Given the description of an element on the screen output the (x, y) to click on. 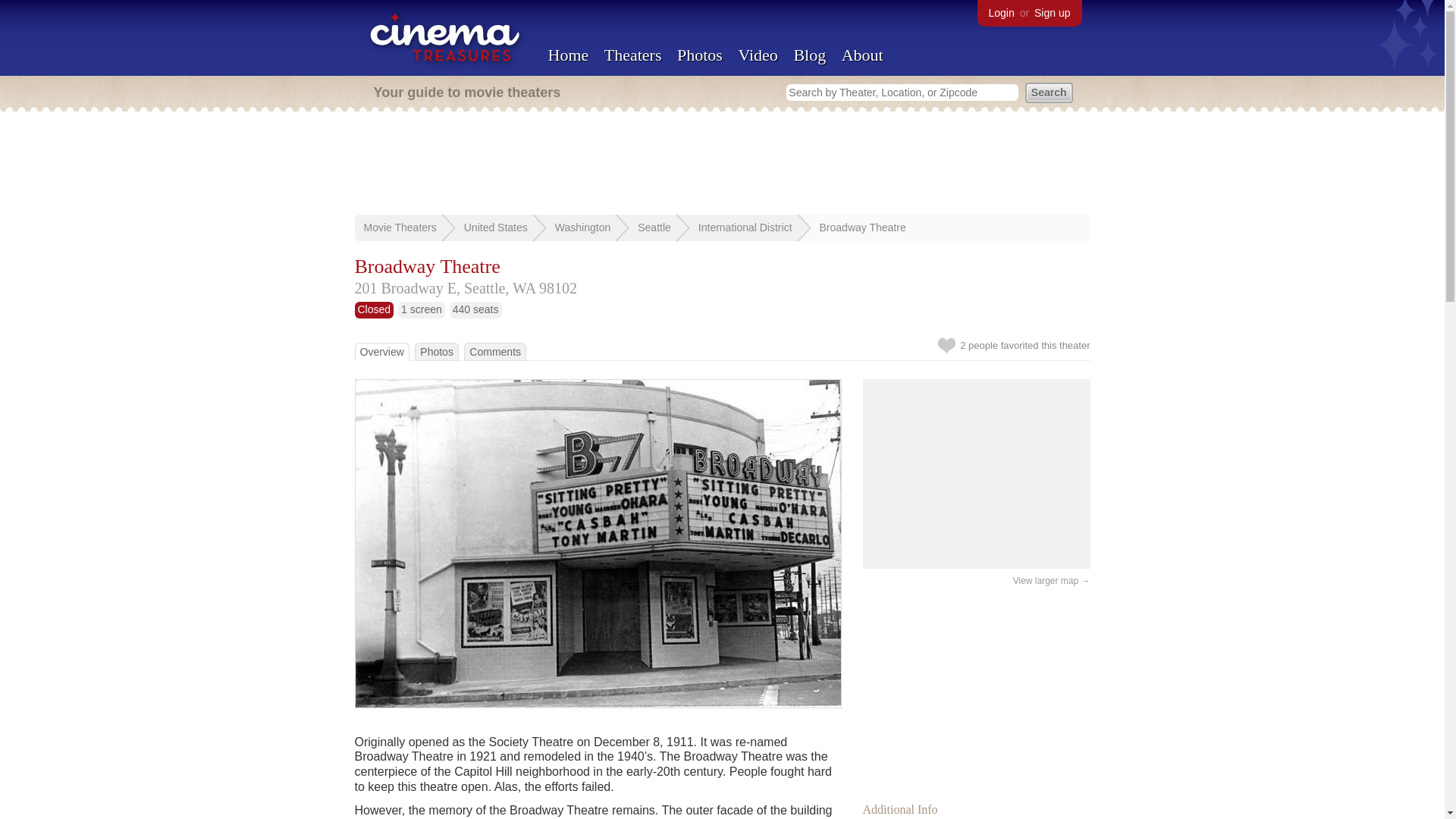
Home (567, 54)
Washington (582, 227)
Photos (436, 351)
Advertisement (976, 690)
Video (757, 54)
1 screen (421, 309)
Overview (381, 351)
Search (1049, 92)
Closed (374, 309)
Comments (494, 351)
Blog (809, 54)
Login to favorite this theater (946, 345)
About (862, 54)
Seattle (654, 227)
Theaters (633, 54)
